Given the description of an element on the screen output the (x, y) to click on. 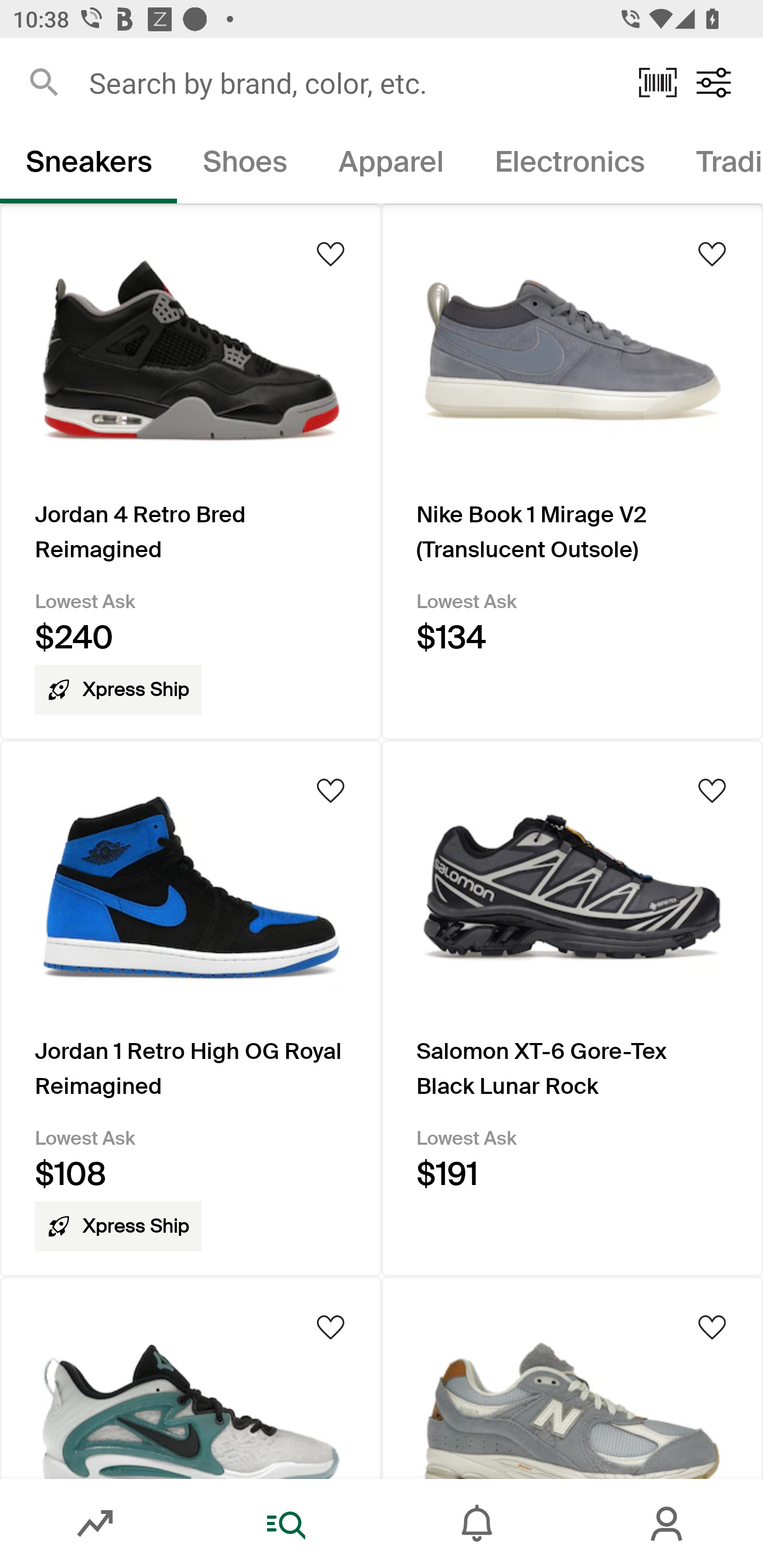
Search by brand, color, etc. (351, 82)
Shoes (244, 165)
Apparel (390, 165)
Electronics (569, 165)
Product Image (190, 1377)
Product Image (572, 1377)
Market (95, 1523)
Inbox (476, 1523)
Account (667, 1523)
